Given the description of an element on the screen output the (x, y) to click on. 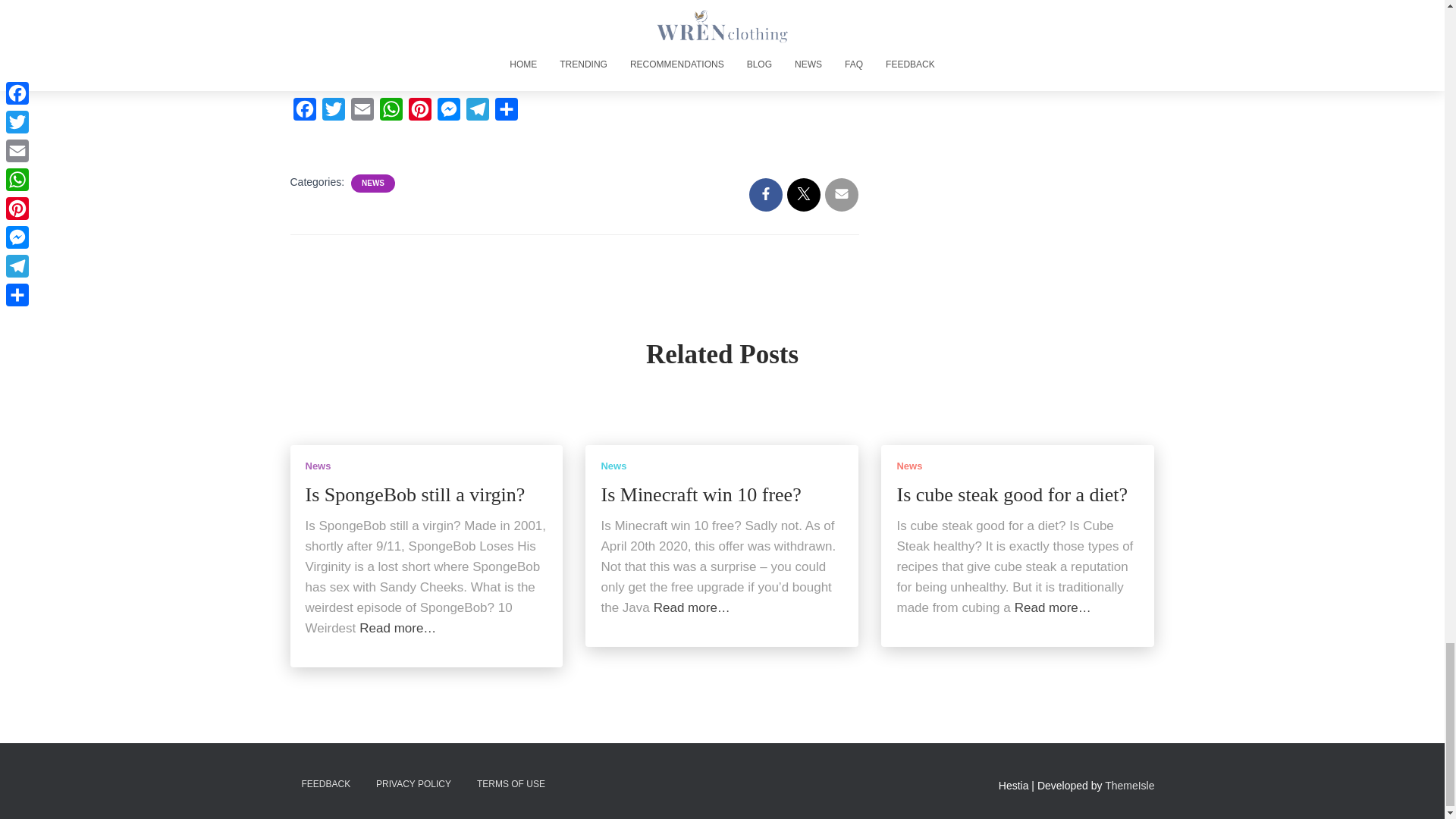
Twitter (332, 112)
Email (361, 112)
Facebook (303, 112)
Telegram (477, 112)
Facebook (303, 112)
WhatsApp (389, 112)
Twitter (332, 112)
Pinterest (418, 112)
NEWS (372, 183)
Messenger (448, 112)
